Given the description of an element on the screen output the (x, y) to click on. 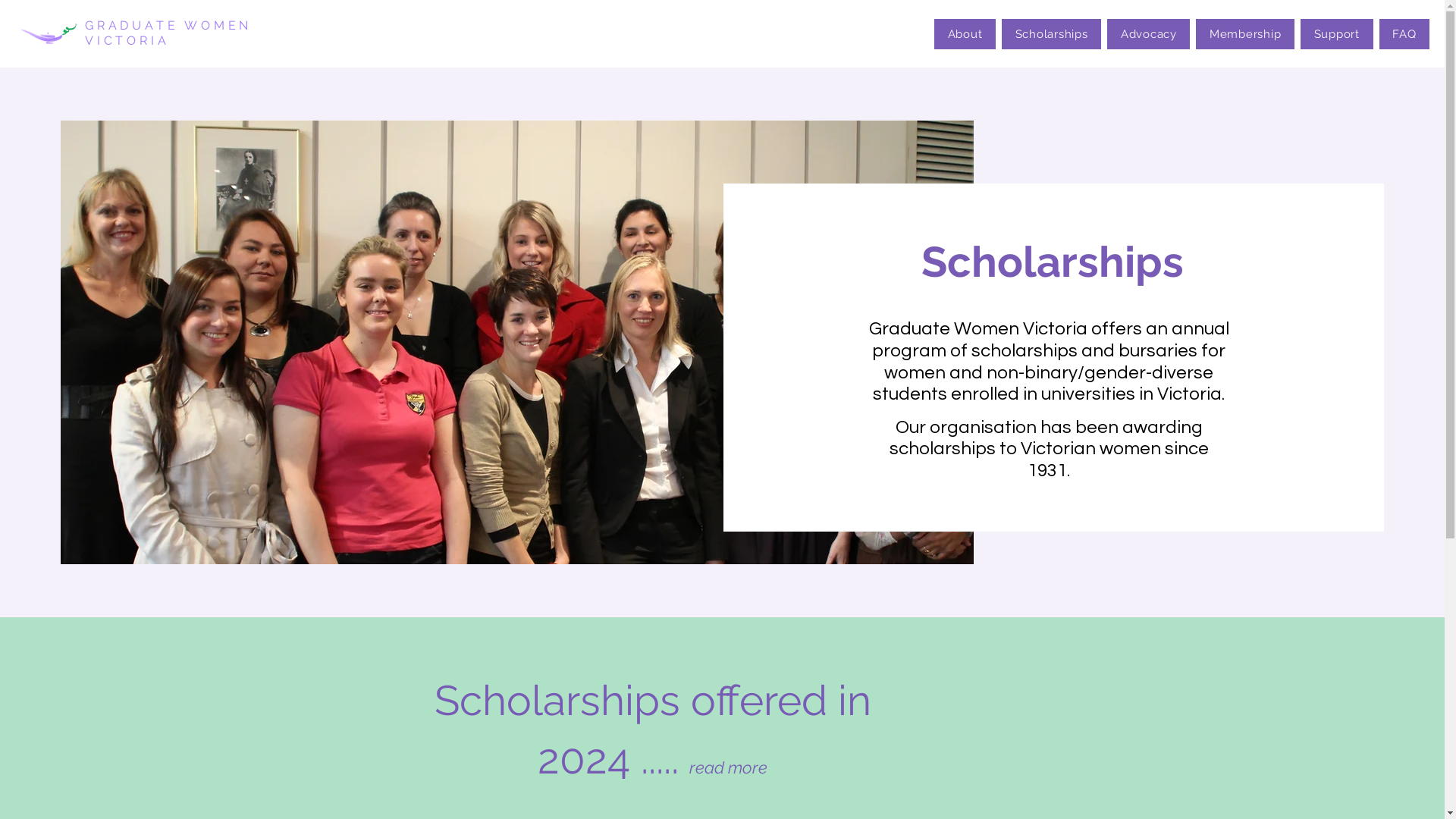
About Element type: text (964, 33)
GRADUATE WOMEN
VICTORIA Element type: text (167, 32)
Membership Element type: text (1244, 33)
read more Element type: text (728, 758)
Advocacy Element type: text (1148, 33)
FAQ Element type: text (1404, 33)
Support Element type: text (1336, 33)
Scholarships Element type: text (1051, 33)
